Given the description of an element on the screen output the (x, y) to click on. 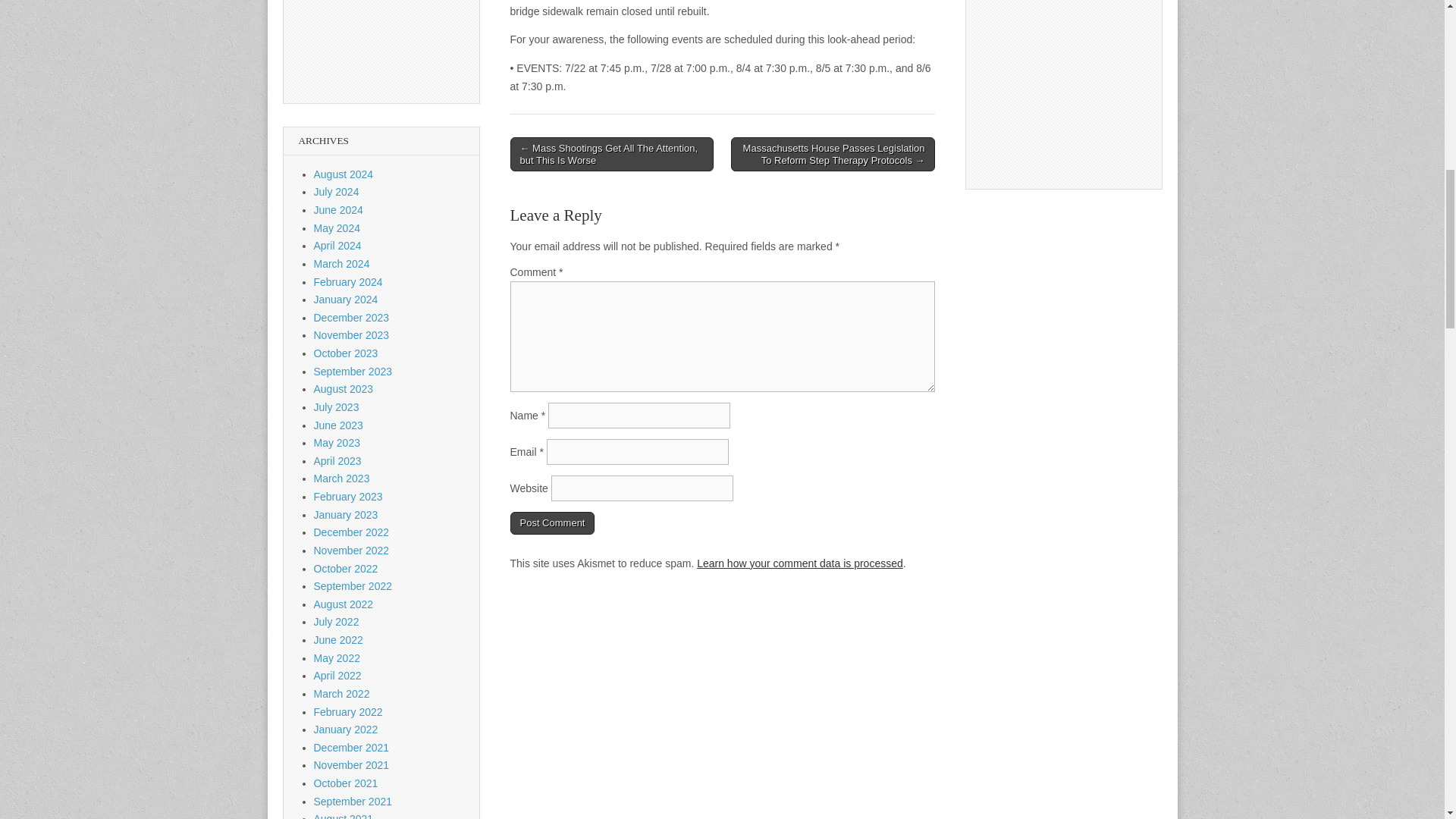
Learn how your comment data is processed (799, 563)
February 2024 (348, 282)
April 2024 (337, 245)
Post Comment (551, 522)
July 2024 (336, 191)
May 2024 (336, 227)
June 2024 (338, 209)
March 2024 (341, 263)
January 2024 (346, 299)
Post Comment (551, 522)
